Given the description of an element on the screen output the (x, y) to click on. 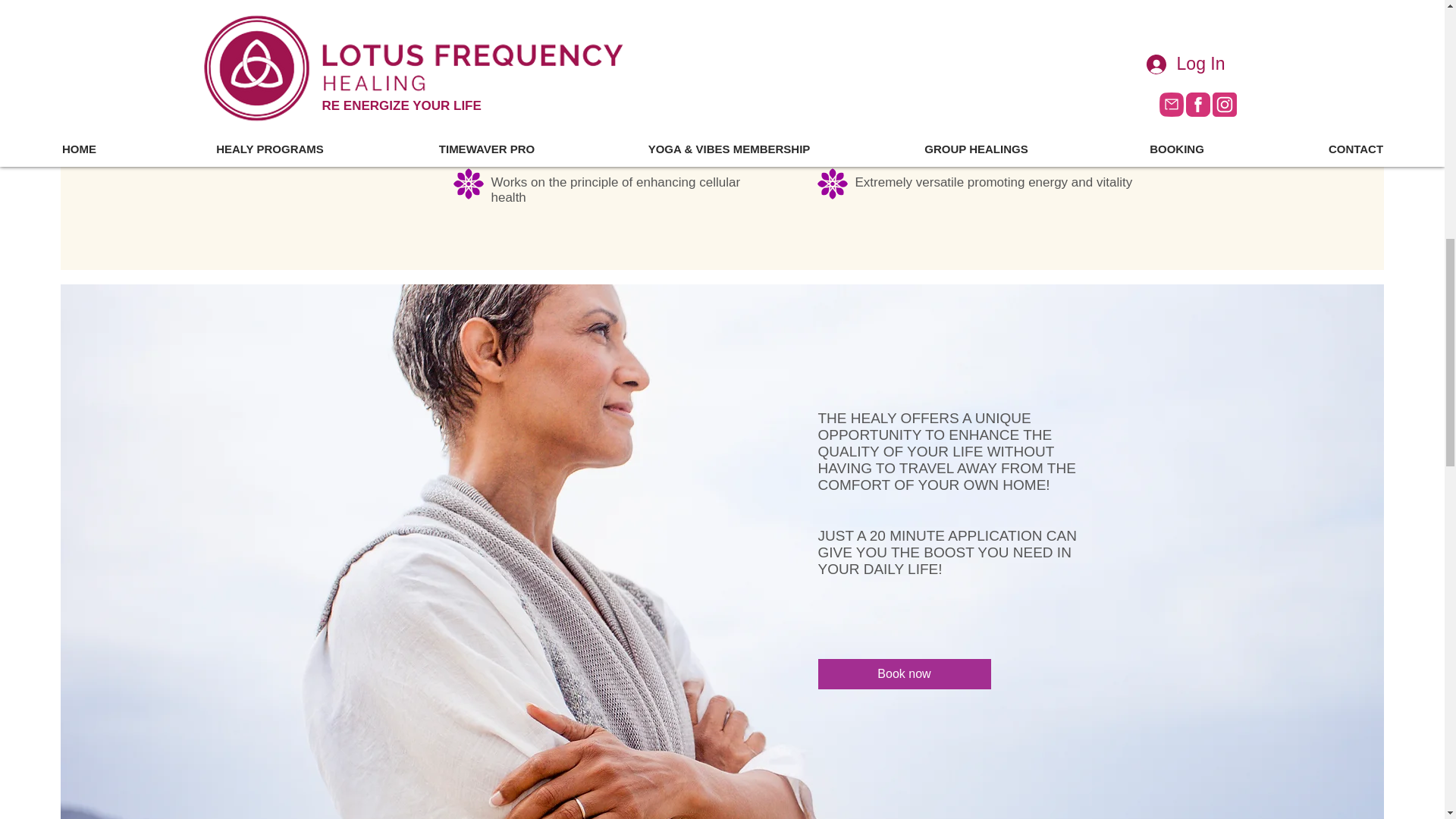
Book now (903, 674)
